Given the description of an element on the screen output the (x, y) to click on. 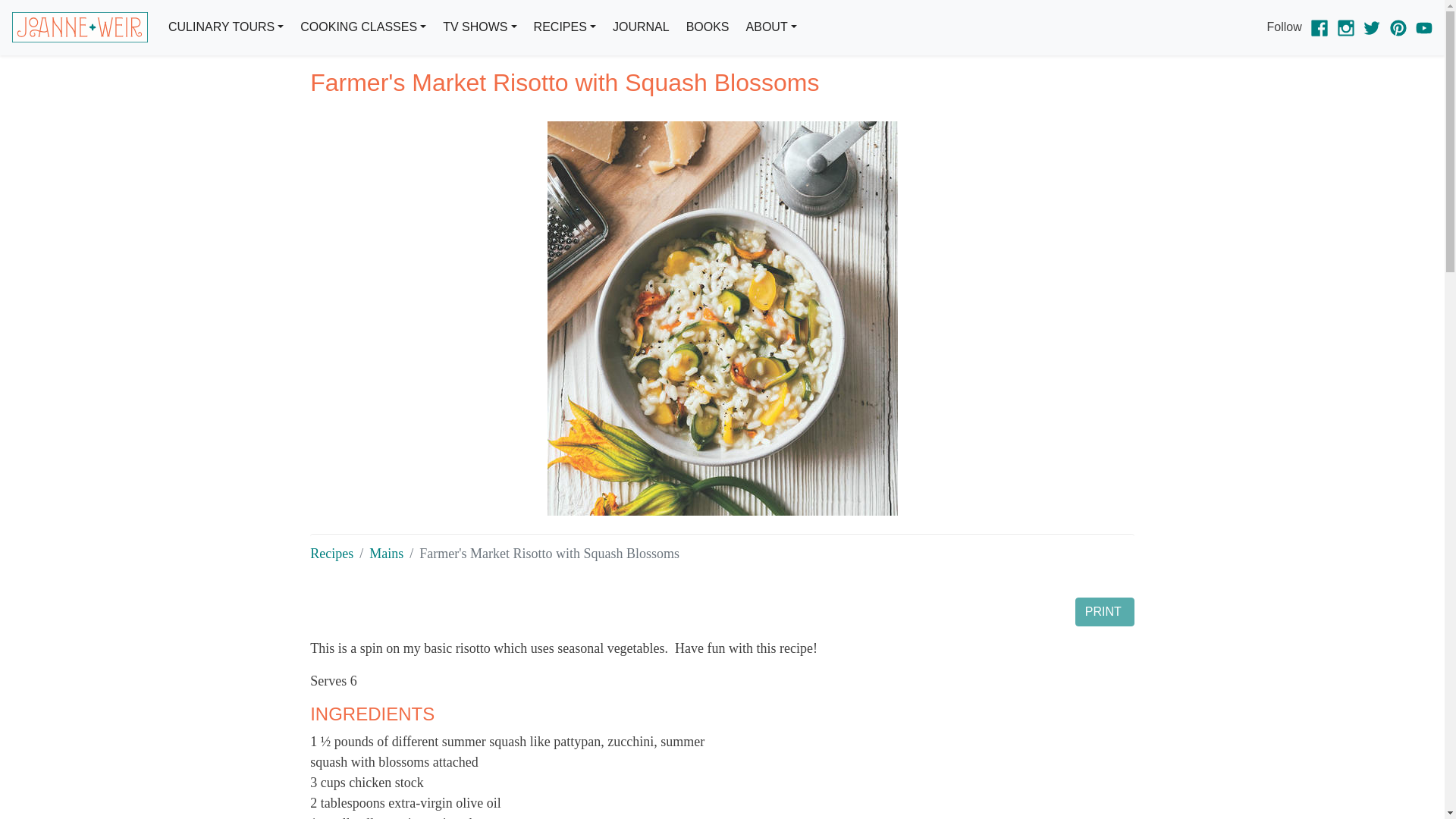
COOKING CLASSES (362, 27)
Search (773, 96)
TV SHOWS (479, 27)
CULINARY TOURS (225, 27)
RECIPES (564, 27)
Joanne Weir (79, 26)
JOURNAL (641, 27)
